Given the description of an element on the screen output the (x, y) to click on. 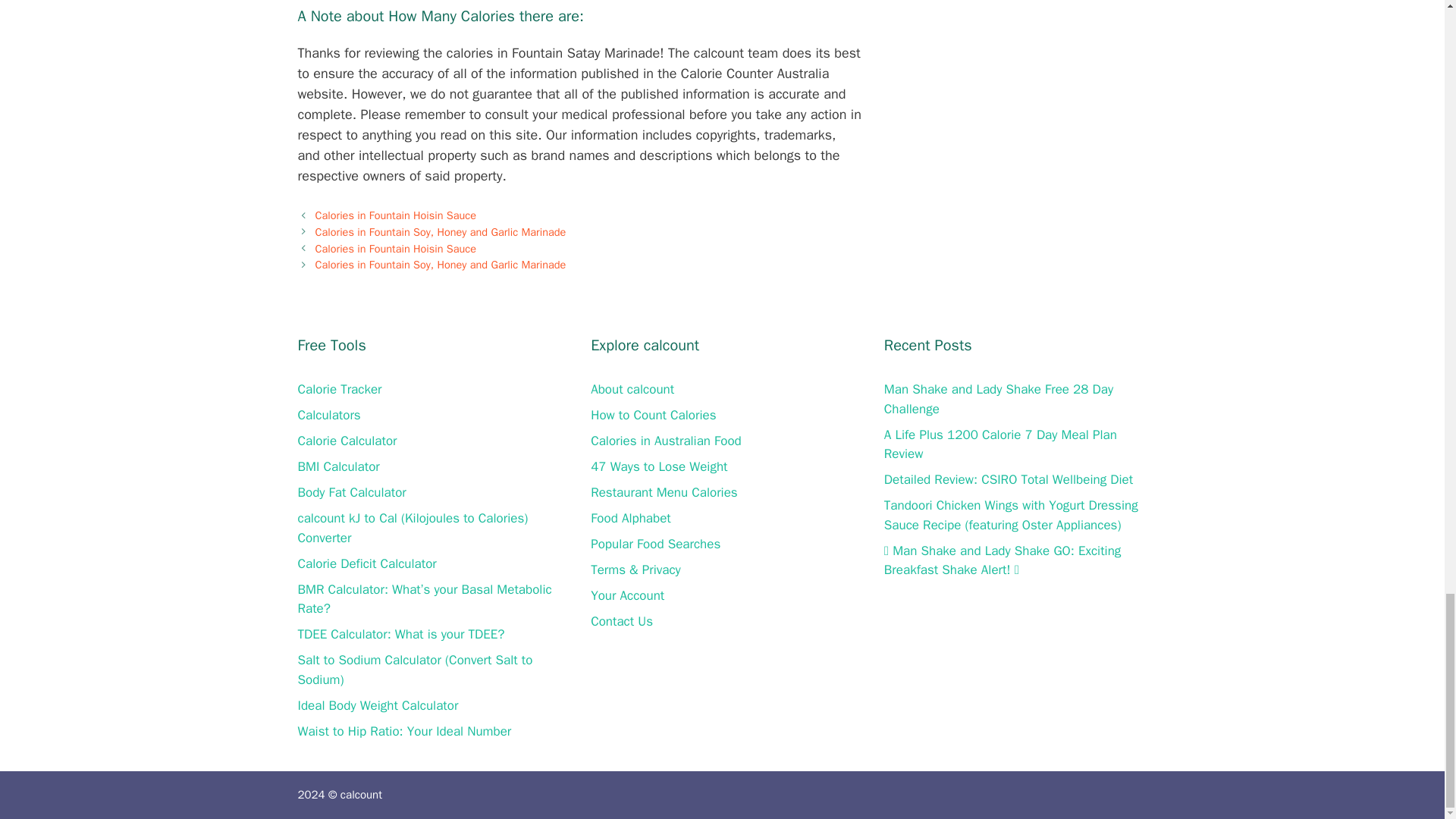
Calories in Fountain Hoisin Sauce (395, 248)
BMI Calculator (337, 466)
Calorie Calculator (346, 440)
Calories in Fountain Hoisin Sauce (395, 214)
Calories in Fountain Soy, Honey and Garlic Marinade (440, 264)
Calculators (328, 415)
Calories in Fountain Soy, Honey and Garlic Marinade (440, 232)
Calorie Tracker (339, 389)
